Given the description of an element on the screen output the (x, y) to click on. 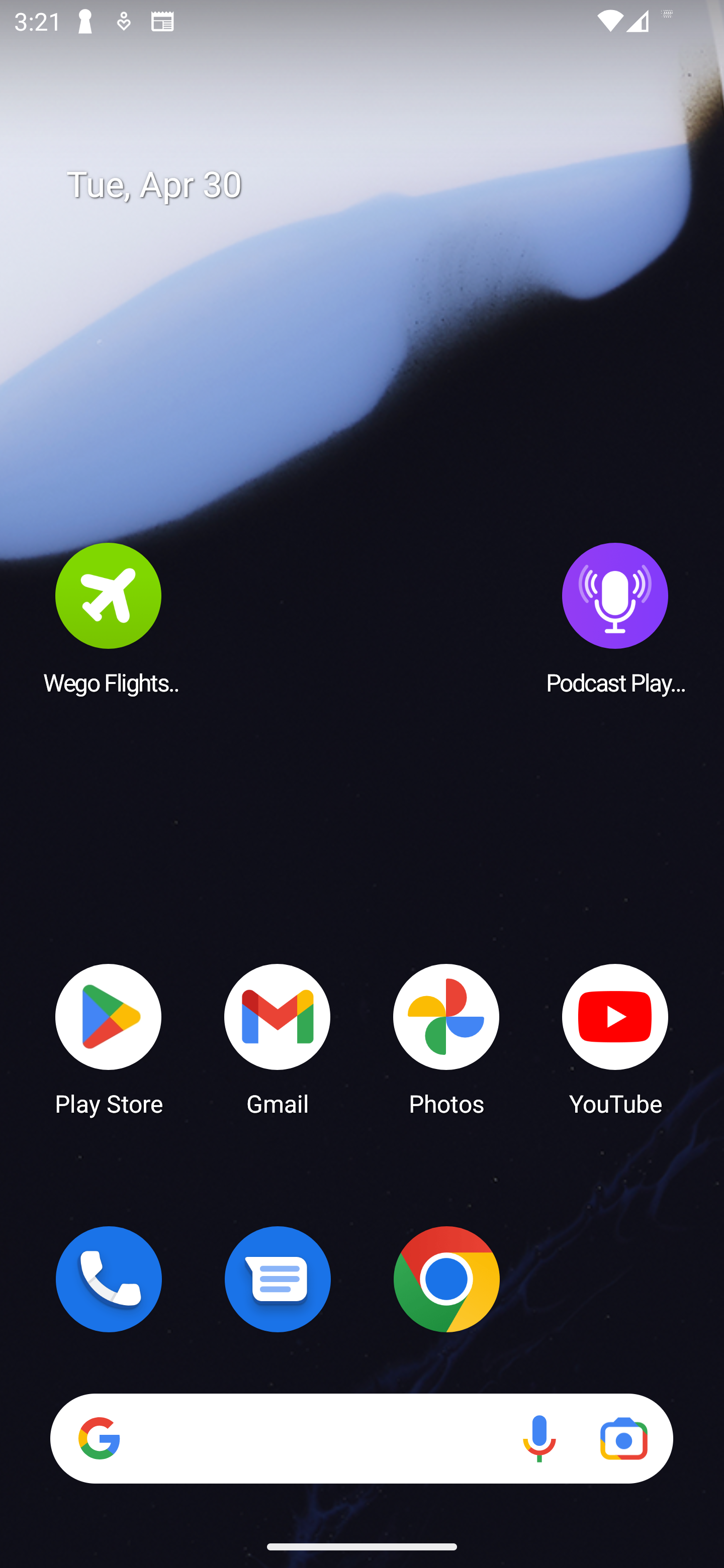
Tue, Apr 30 (375, 184)
Wego Flights & Hotels (108, 617)
Podcast Player (615, 617)
Play Store (108, 1038)
Gmail (277, 1038)
Photos (445, 1038)
YouTube (615, 1038)
Phone (108, 1279)
Messages (277, 1279)
Chrome (446, 1279)
Voice search (539, 1438)
Google Lens (623, 1438)
